Given the description of an element on the screen output the (x, y) to click on. 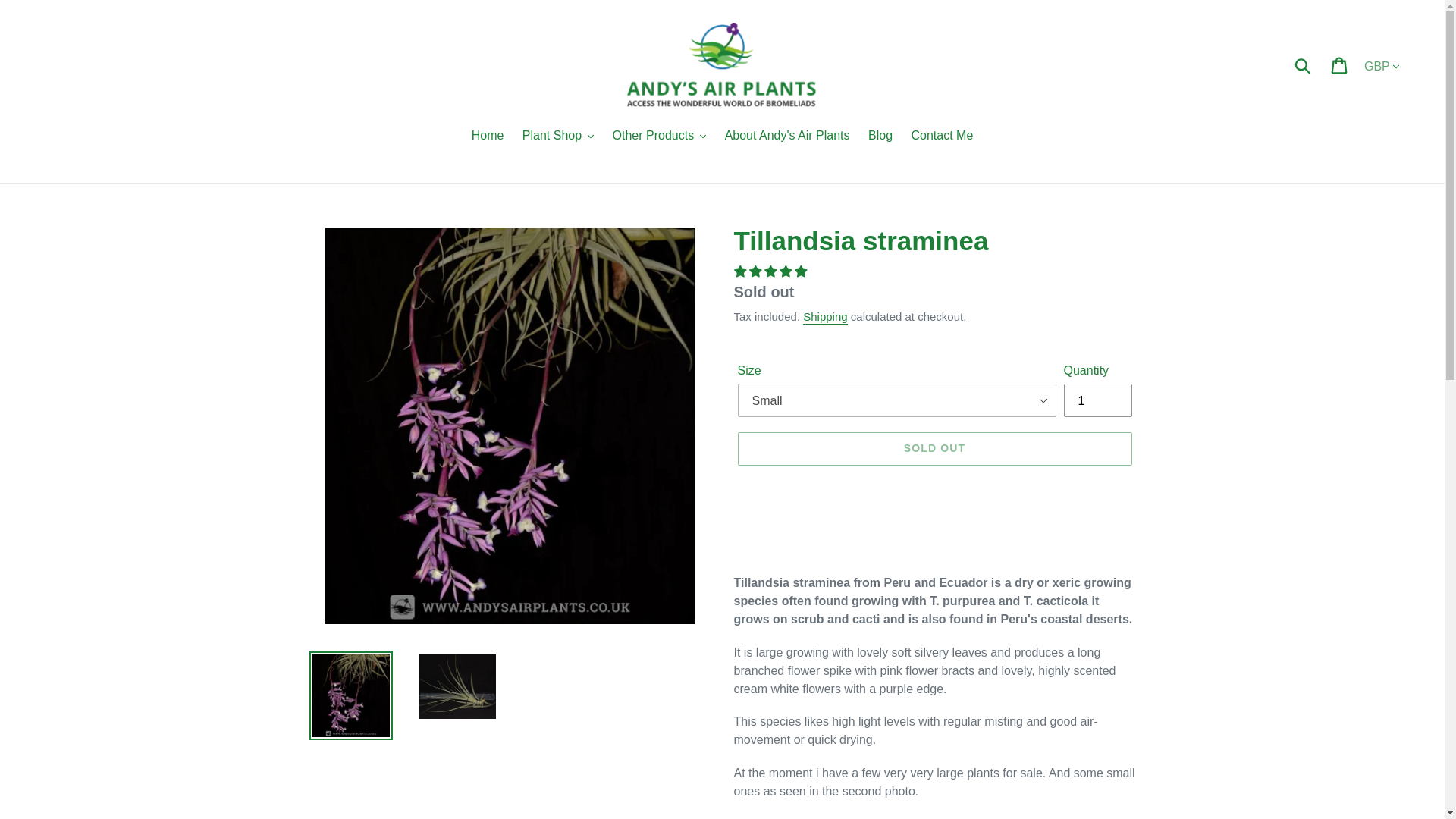
Home (488, 136)
Submit (1303, 64)
Contact Me (942, 136)
About Andy's Air Plants (787, 136)
1 (1096, 400)
Cart (1340, 64)
Shipping (825, 317)
Blog (879, 136)
